Given the description of an element on the screen output the (x, y) to click on. 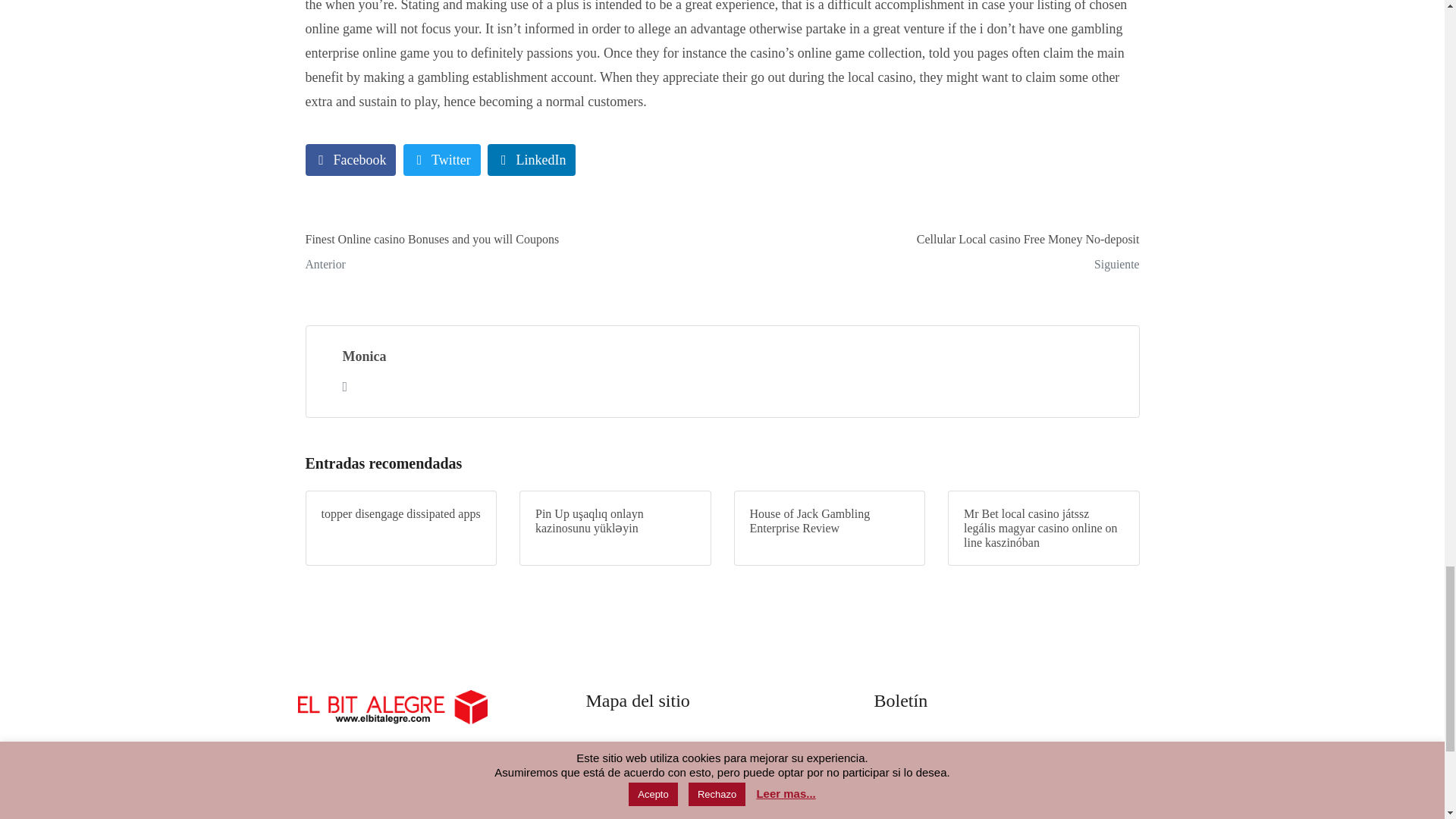
Finest Online casino Bonuses and you will Coupons (508, 253)
Monica (364, 355)
Facebook (936, 253)
Twitter (350, 160)
LinkedIn (441, 160)
Cellular Local casino Free Money No-deposit (531, 160)
